Given the description of an element on the screen output the (x, y) to click on. 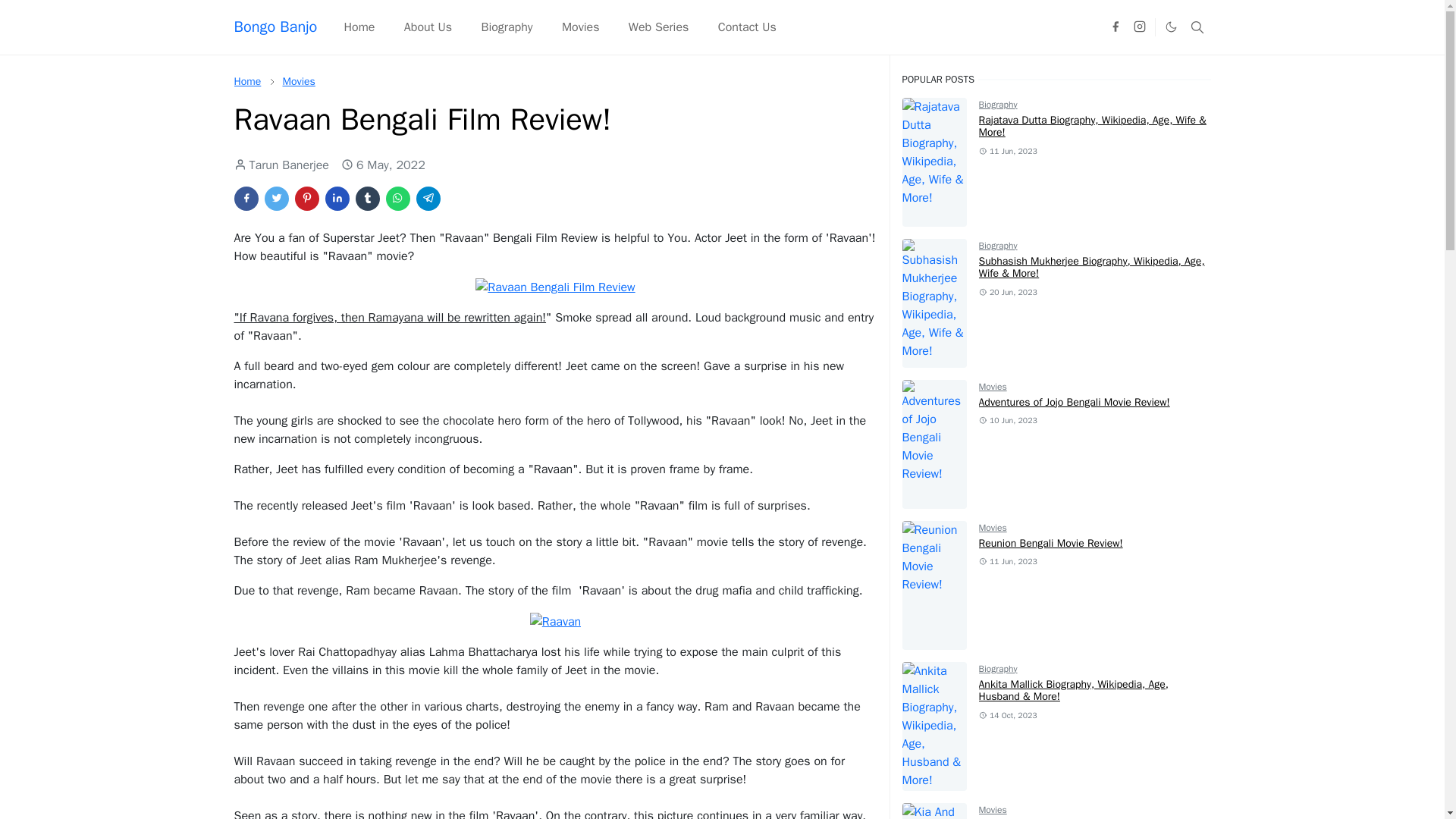
Linkedin Share (336, 198)
Movies (298, 81)
Home (246, 81)
Biography (506, 27)
Share to telegram (426, 198)
Bongo Banjo (274, 26)
Ravaan Bengali Film Review (555, 287)
Pin It (306, 198)
Adventures of Jojo Bengali Movie Review! (1074, 401)
Biography (997, 245)
Home (246, 81)
Home (358, 27)
Facebook Share (244, 198)
Biography (997, 104)
Movies (580, 27)
